Given the description of an element on the screen output the (x, y) to click on. 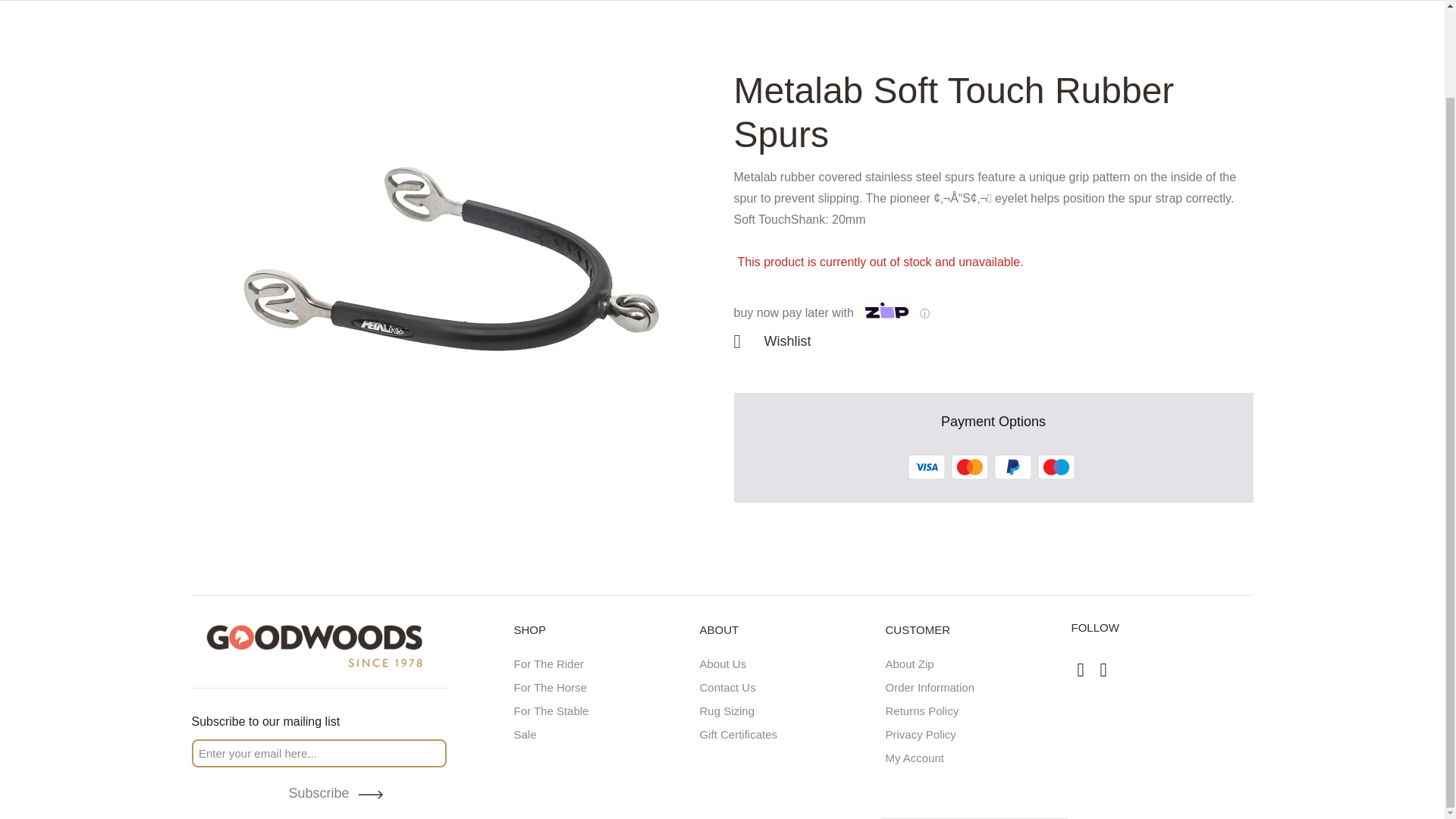
Sale (603, 731)
Contact Us (787, 684)
For The Stable (603, 708)
About Us (787, 661)
ABOUT (787, 635)
SHOP (603, 635)
Subscribe (318, 793)
For The Rider (603, 661)
For The Horse (603, 684)
